Given the description of an element on the screen output the (x, y) to click on. 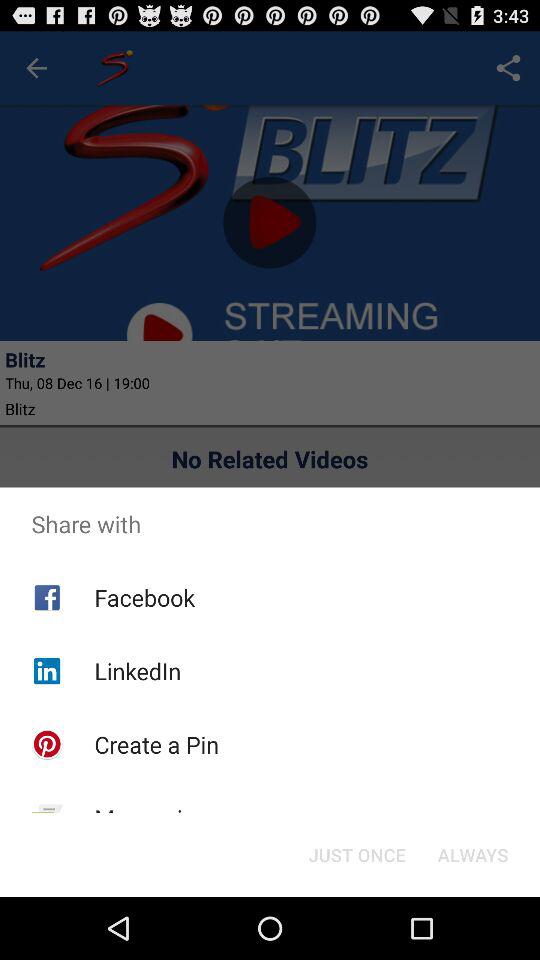
turn off app below the share with app (472, 854)
